Given the description of an element on the screen output the (x, y) to click on. 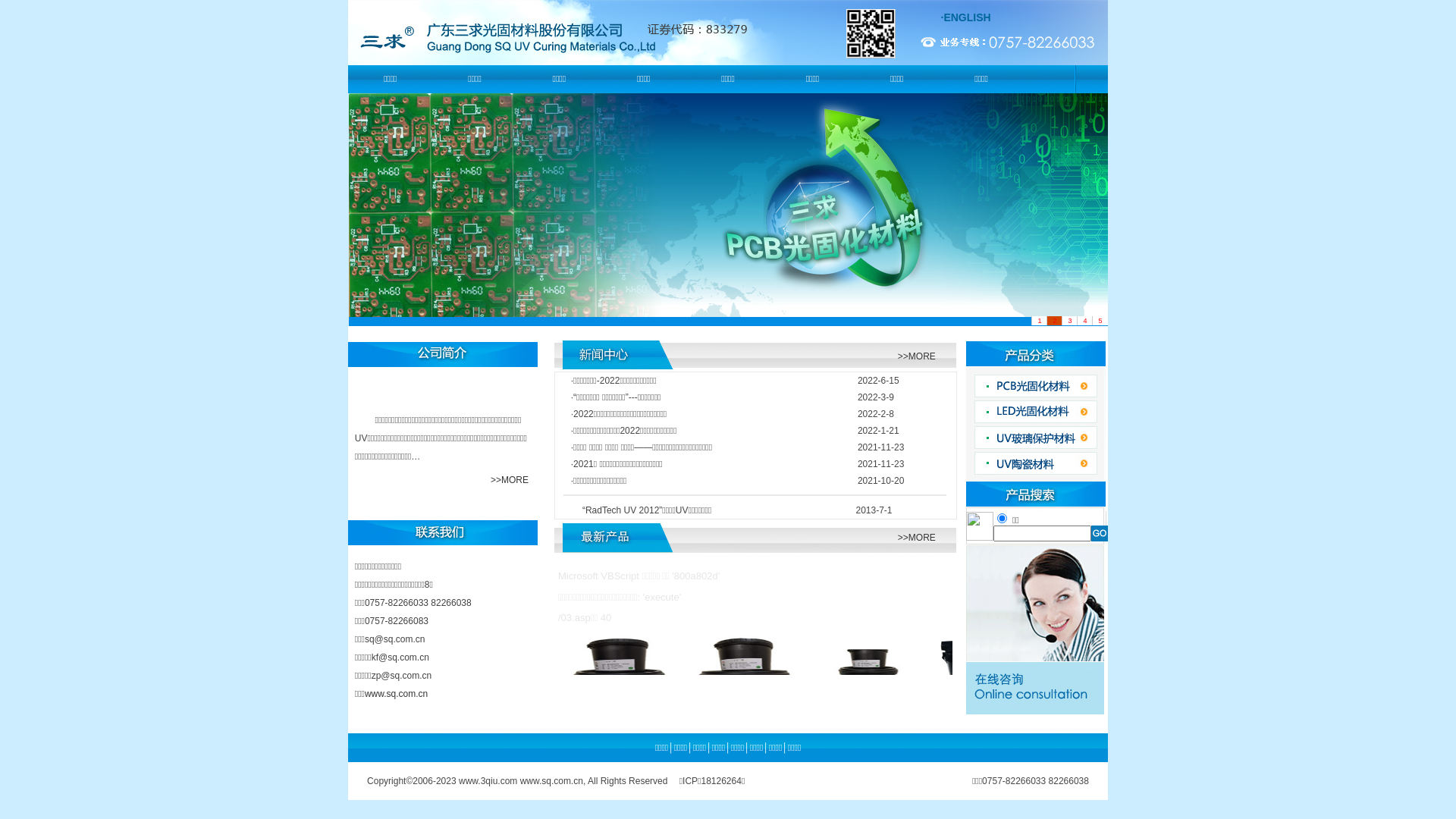
1 Element type: text (1038, 320)
2 Element type: text (1053, 320)
ENGLISH Element type: text (966, 17)
4 Element type: text (1084, 320)
MORE Element type: text (921, 537)
5 Element type: text (1099, 320)
3 Element type: text (1068, 320)
www.sq.com.cn Element type: text (395, 693)
MORE  Element type: text (515, 479)
MORE Element type: text (921, 355)
